Given the description of an element on the screen output the (x, y) to click on. 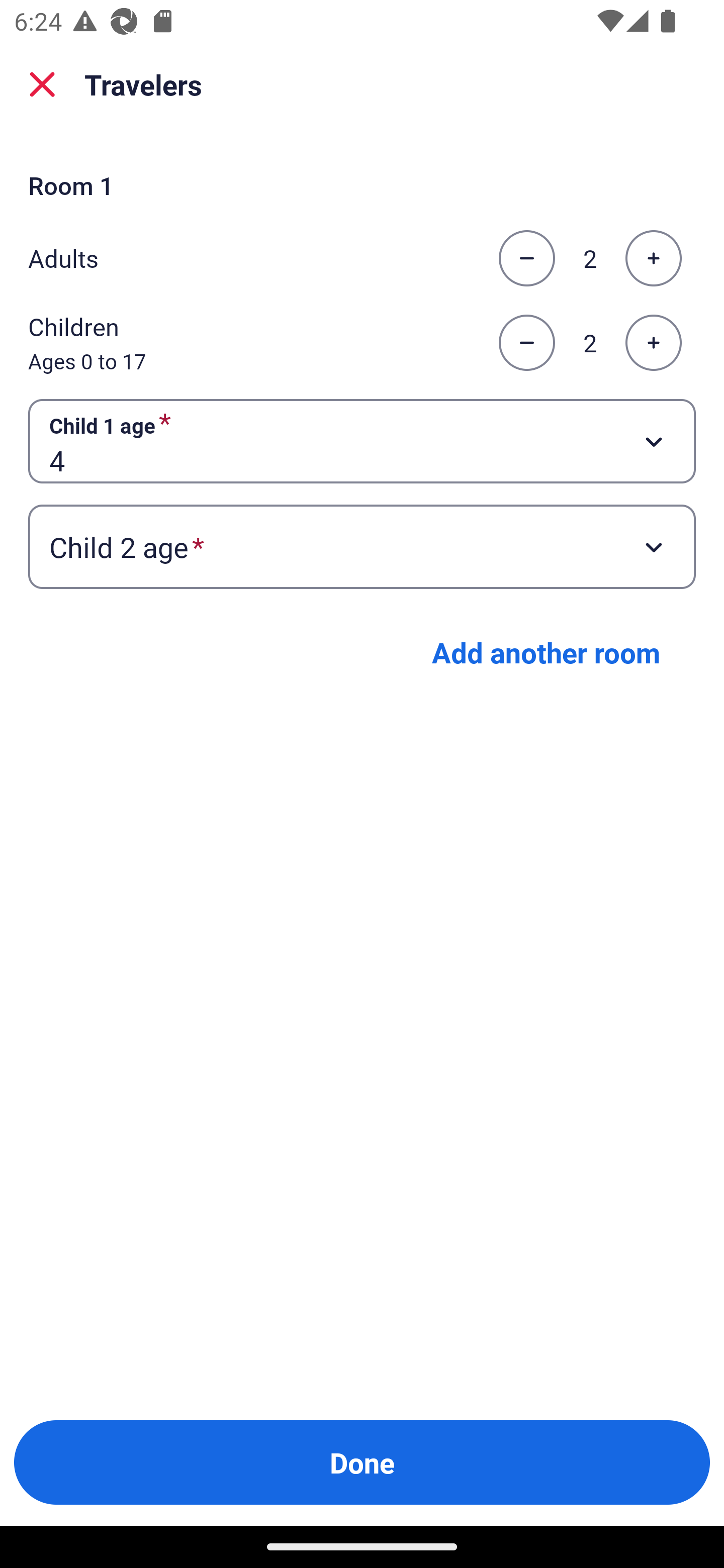
close (42, 84)
Decrease the number of adults (526, 258)
Increase the number of adults (653, 258)
Decrease the number of children (526, 343)
Increase the number of children (653, 343)
Child 1 age required Button 4 (361, 440)
Child 2 age required Button (361, 546)
Add another room (545, 651)
Done (361, 1462)
